Given the description of an element on the screen output the (x, y) to click on. 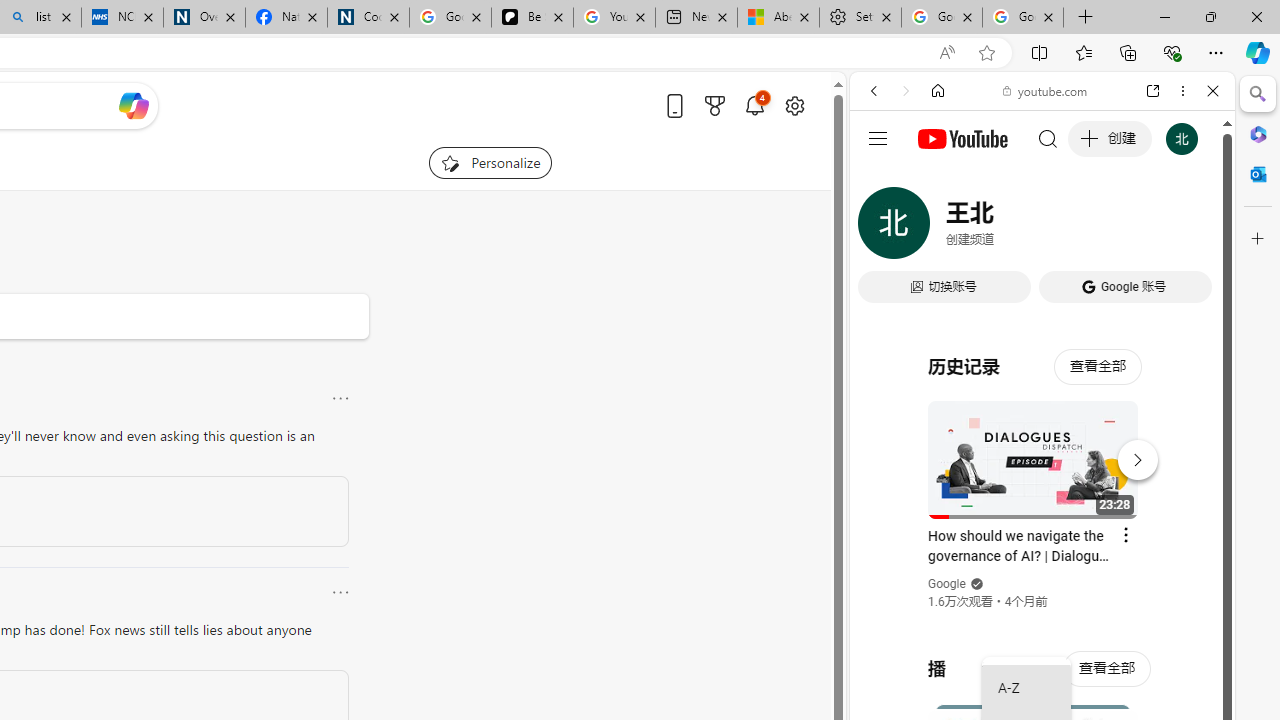
Search videos from youtube.com (1005, 657)
Show More Music (1164, 546)
